Given the description of an element on the screen output the (x, y) to click on. 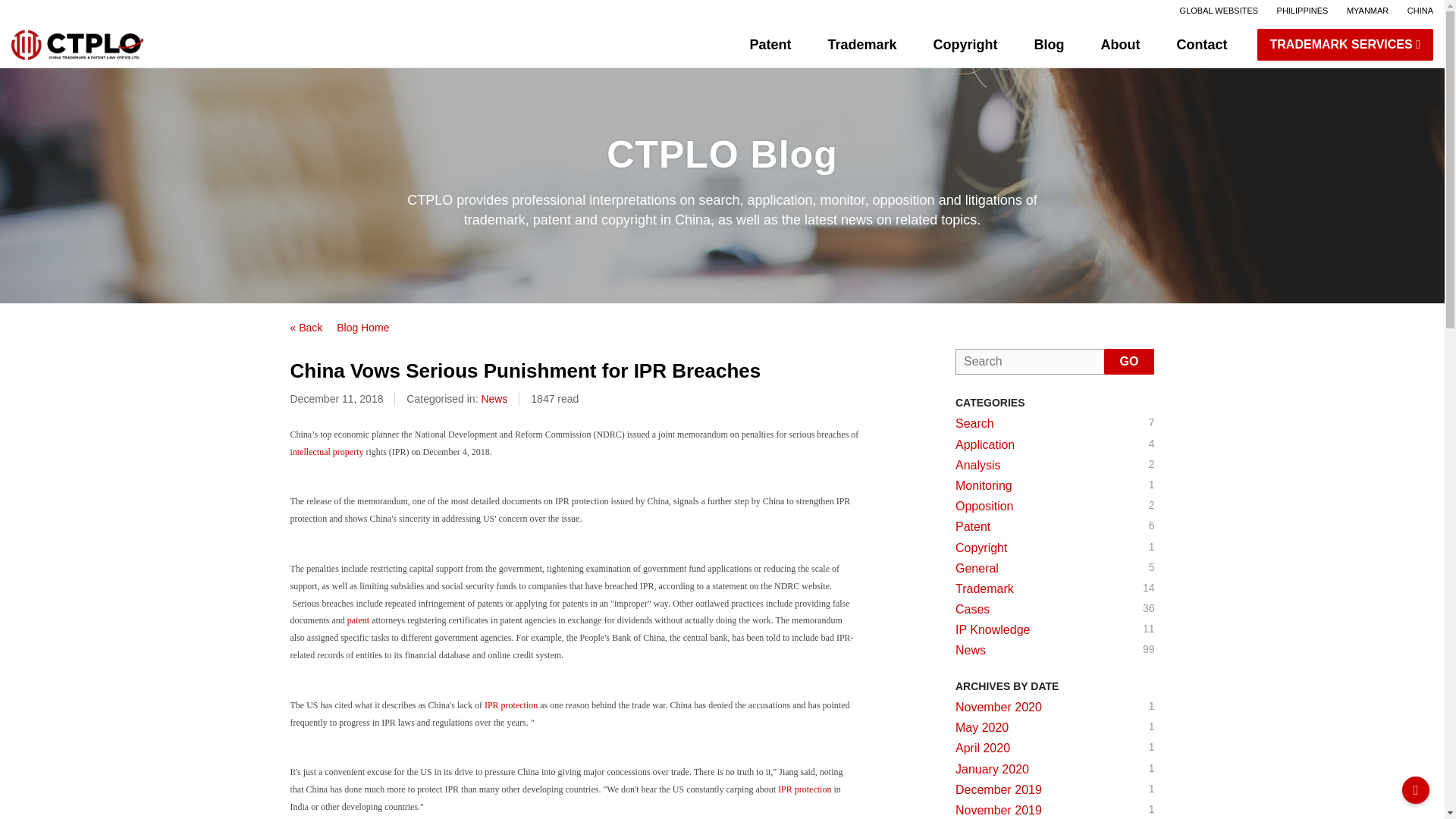
intellectual property (325, 451)
GLOBAL WEBSITES (1219, 10)
patent (1054, 526)
Blog (1054, 568)
IPR protection (358, 620)
CHINA (1049, 44)
Trademark (1054, 505)
TRADEMARK SERVICES (510, 705)
News (1419, 10)
